Given the description of an element on the screen output the (x, y) to click on. 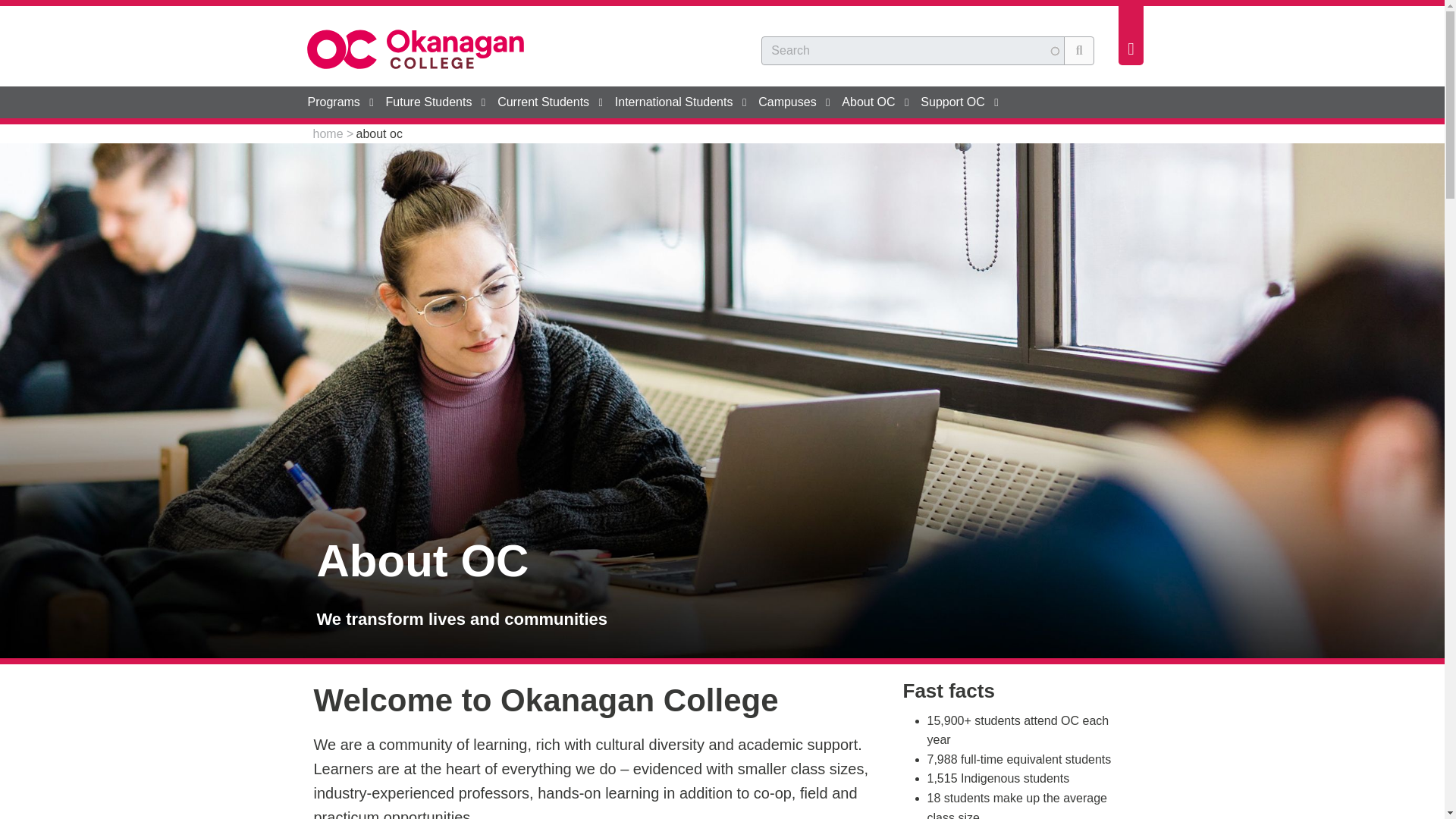
Campuses (793, 101)
Future Students (436, 101)
Support OC (959, 101)
International Students (680, 101)
About OC (874, 101)
Programs (340, 101)
home (327, 133)
Current Students (550, 101)
